Given the description of an element on the screen output the (x, y) to click on. 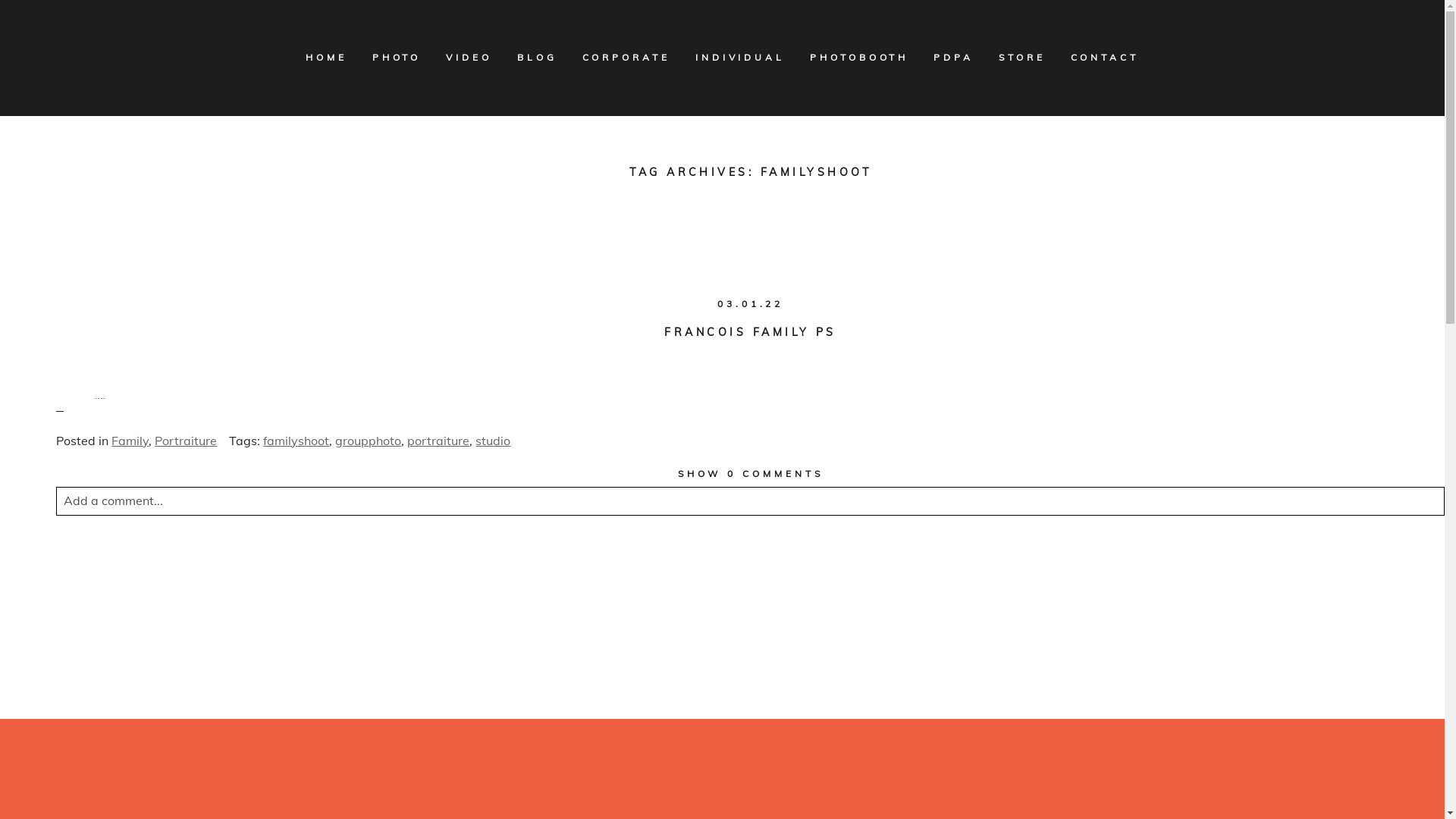
FRANCOIS FAMILY PS Element type: text (750, 332)
STORE Element type: text (1021, 56)
VIDEO Element type: text (468, 56)
Portraiture Element type: text (185, 440)
PHOTO Element type: text (396, 56)
BLOG Element type: text (537, 56)
CORPORATE Element type: text (626, 56)
PDPA Element type: text (953, 56)
HOME Element type: text (326, 56)
portraiture Element type: text (438, 440)
Family Element type: text (129, 440)
READ MORE Element type: text (750, 397)
PHOTOBOOTH Element type: text (858, 56)
SHOW 0 COMMENTS Element type: text (750, 473)
INDIVIDUAL Element type: text (739, 56)
studio Element type: text (492, 440)
CONTACT Element type: text (1104, 56)
familyshoot Element type: text (296, 440)
groupphoto Element type: text (368, 440)
